Given the description of an element on the screen output the (x, y) to click on. 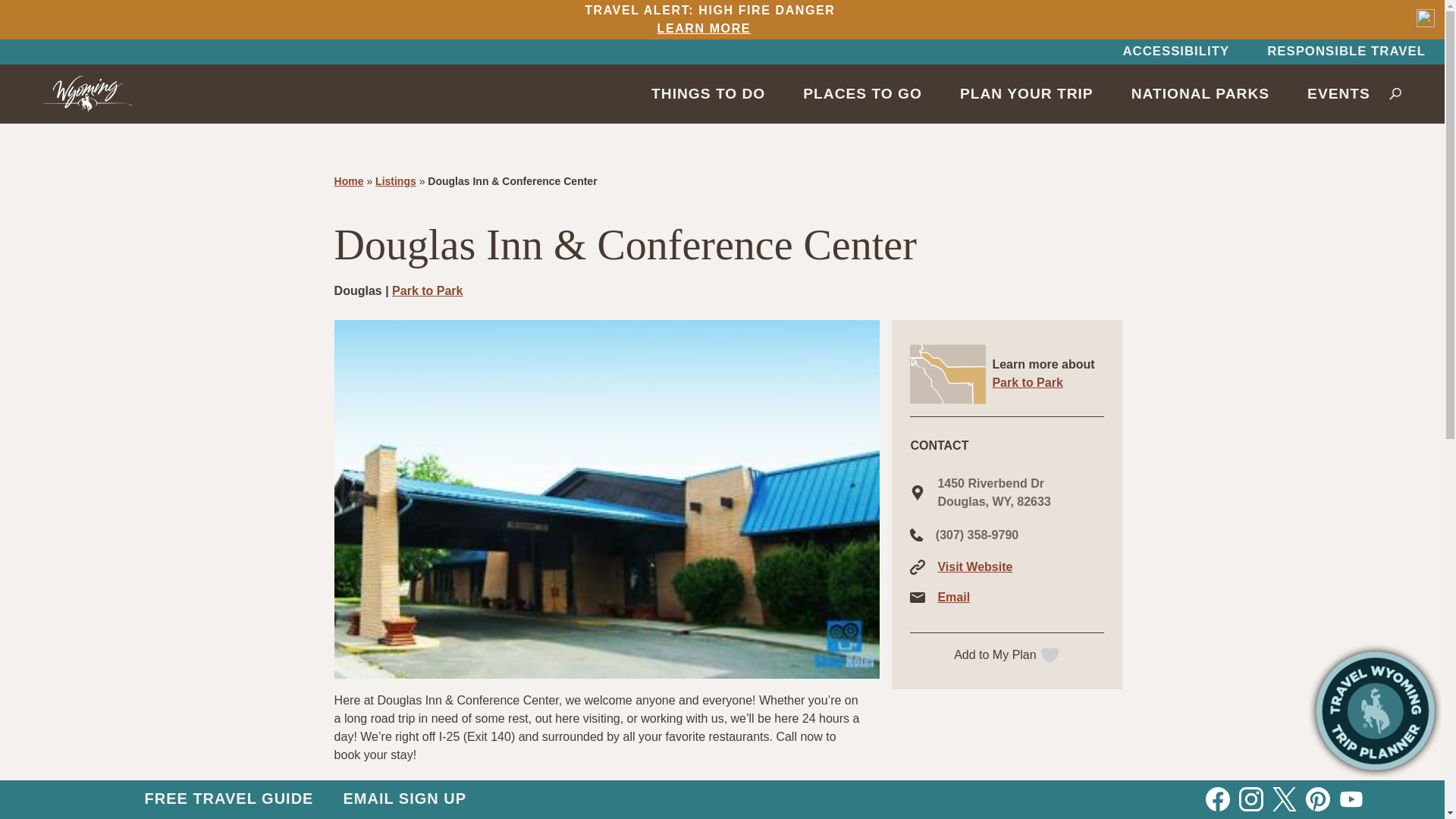
THINGS TO DO (707, 93)
PLACES TO GO (862, 93)
EVENTS (1338, 93)
PLAN YOUR TRIP (1026, 93)
ACCESSIBILITY (706, 20)
Travel Wyoming home (1175, 51)
NATIONAL PARKS (87, 93)
RESPONSIBLE TRAVEL (1200, 93)
